Given the description of an element on the screen output the (x, y) to click on. 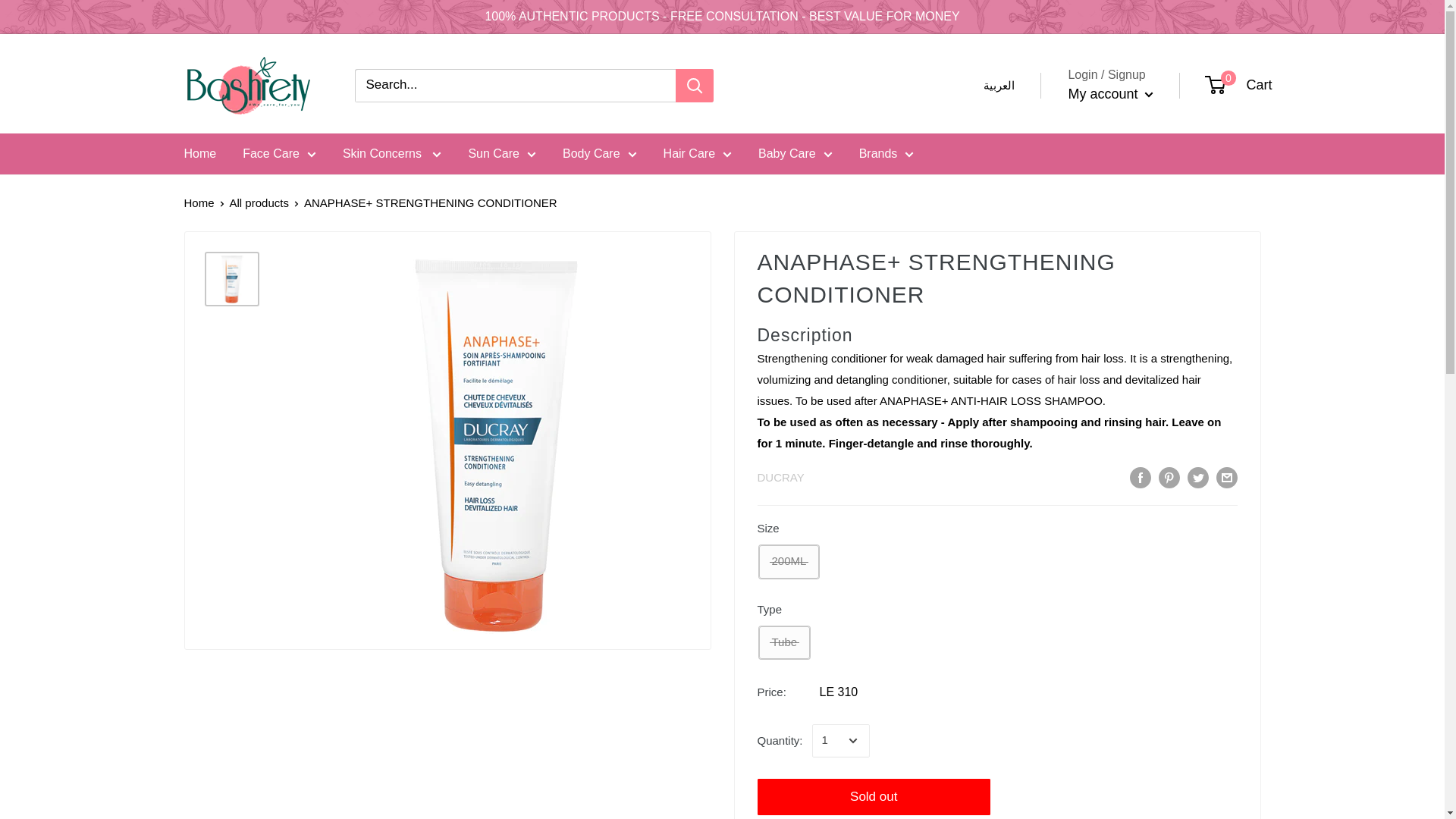
200ML (788, 561)
Tube (783, 642)
